Given the description of an element on the screen output the (x, y) to click on. 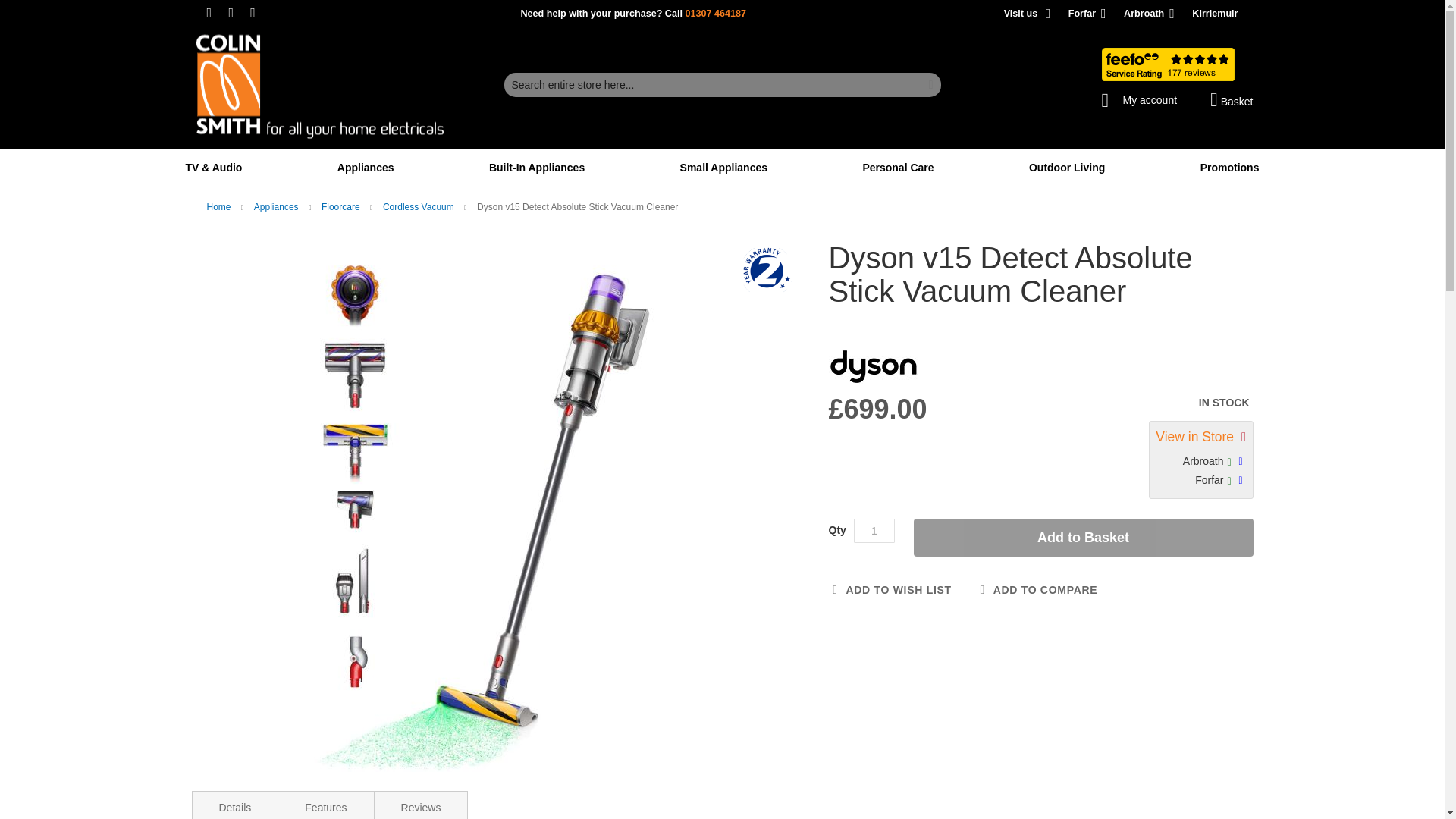
Qty (874, 530)
Availability (1135, 403)
See what our customers say about us (1166, 64)
For more on Dyson, click here. (872, 366)
2 Year Warranty Catalog (766, 271)
My account (1138, 96)
1 (874, 530)
Add to Basket (1082, 537)
Go to Home Page (219, 206)
Kirriemuir (1203, 13)
01307 464187 (714, 13)
Appliances (369, 167)
Basket (1230, 99)
Arbroath (1131, 13)
Forfar (1070, 13)
